Given the description of an element on the screen output the (x, y) to click on. 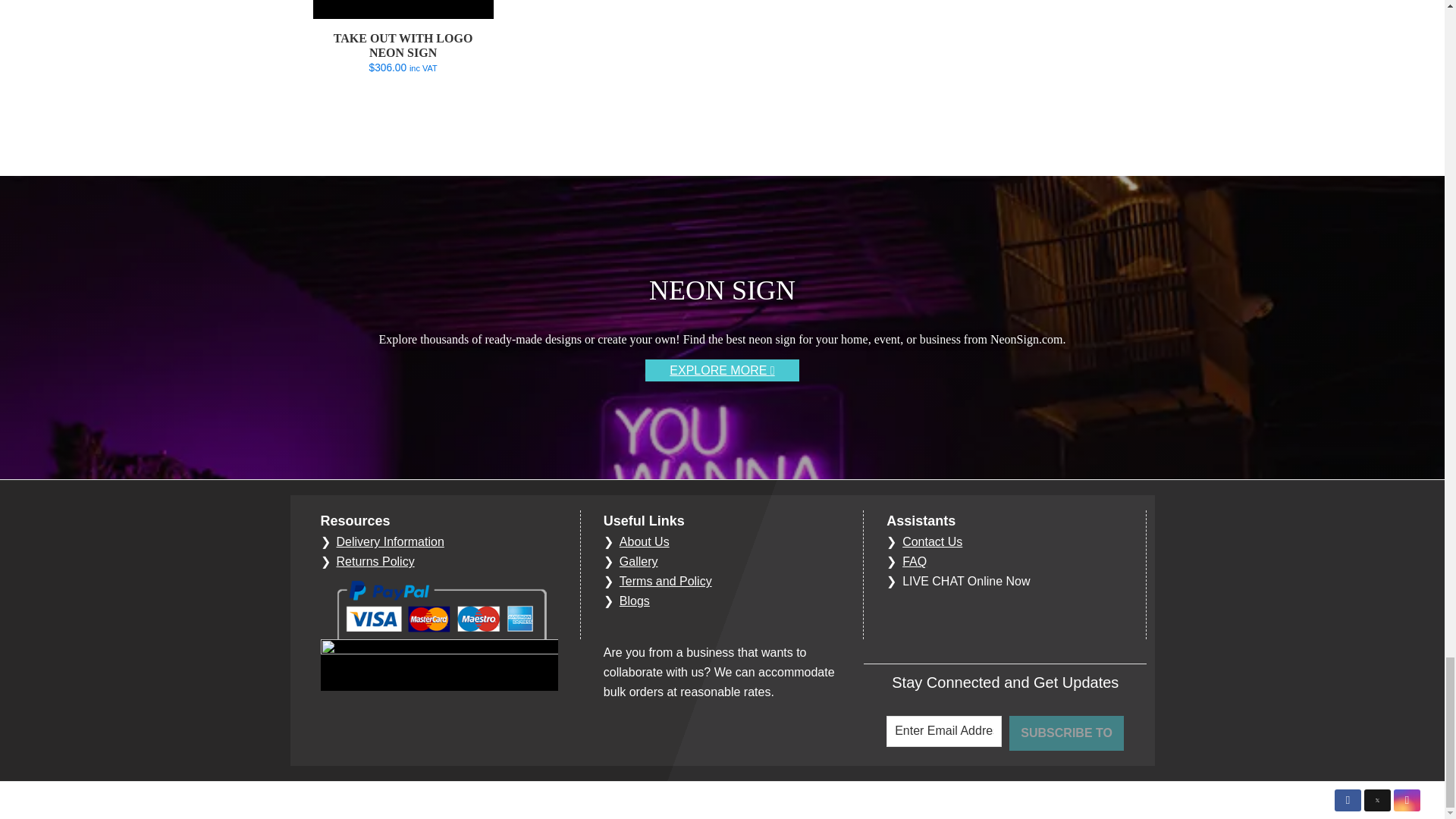
SUBSCRIBE TO (1066, 733)
Live Chat (965, 581)
FAQ (914, 561)
Contact Us (932, 541)
